Given the description of an element on the screen output the (x, y) to click on. 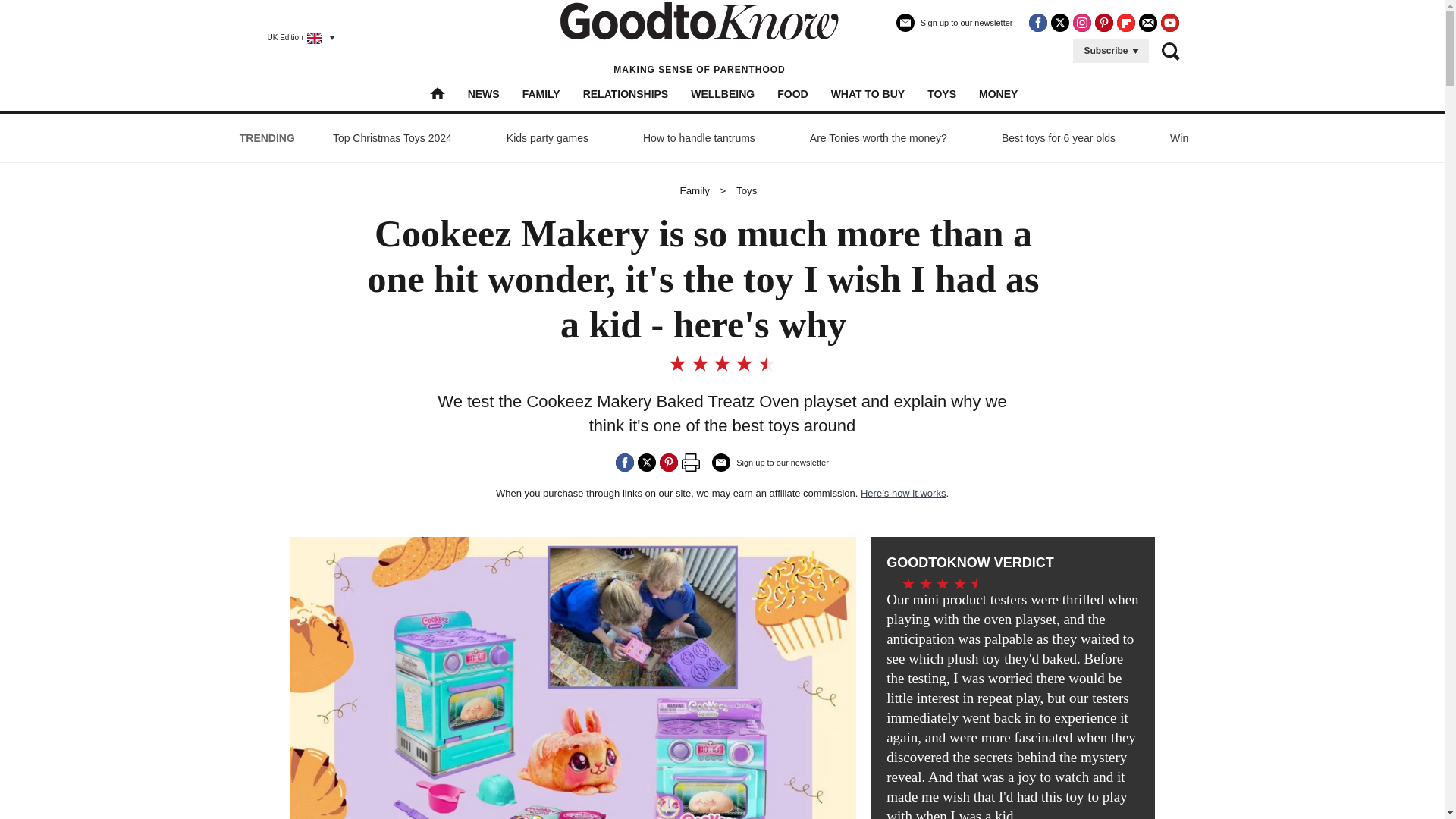
WHAT TO BUY (867, 93)
FAMILY (541, 93)
Family (694, 190)
MAKING SENSE OF PARENTHOOD (699, 38)
FOOD (792, 93)
Win (1178, 137)
Kids party games (547, 137)
Are Tonies worth the money? (878, 137)
Top Christmas Toys 2024 (392, 137)
How to handle tantrums (698, 137)
